Given the description of an element on the screen output the (x, y) to click on. 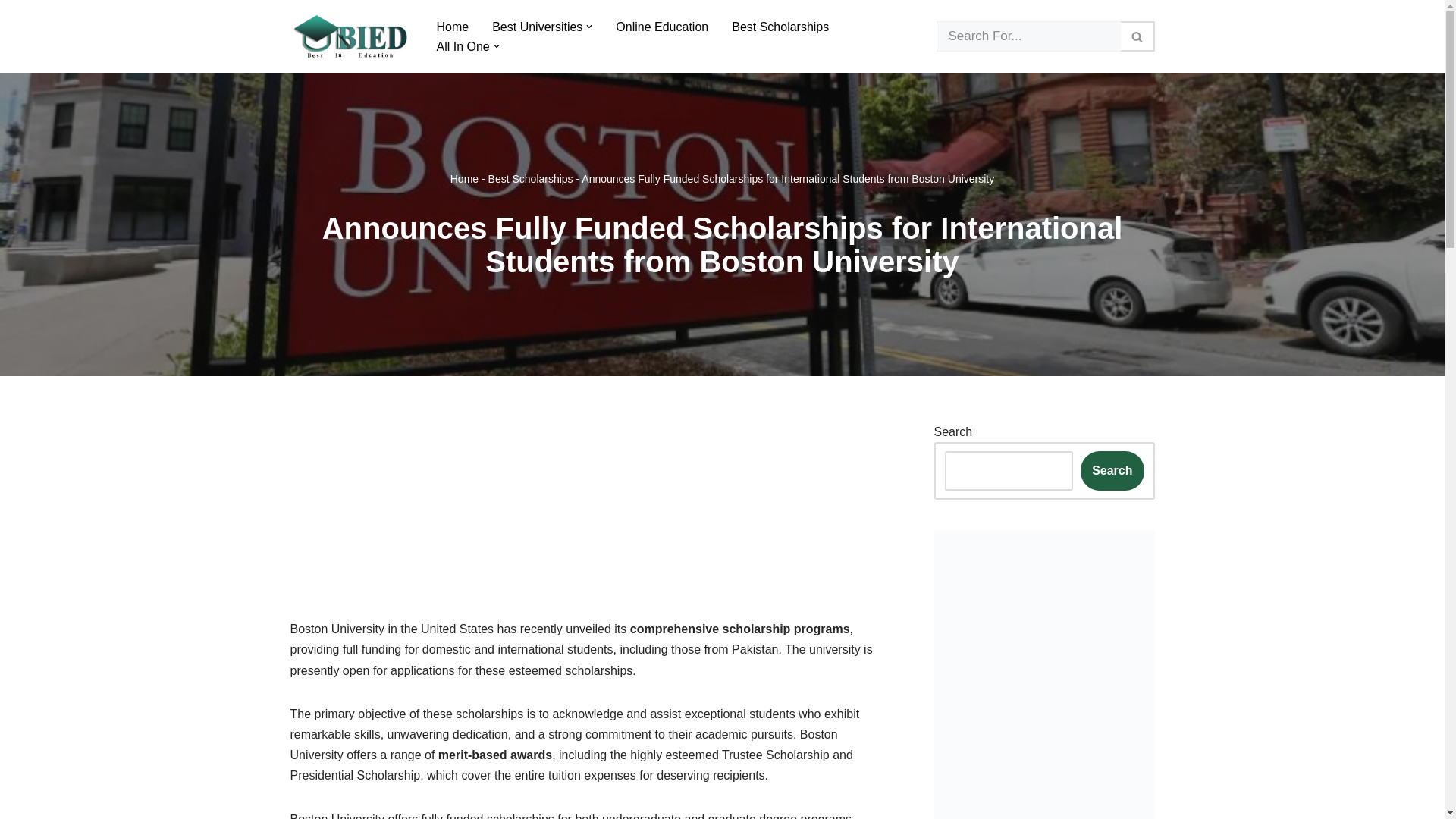
Search (1111, 470)
Best Scholarships (530, 178)
Advertisement (588, 488)
Best Universities (537, 26)
All In One (462, 46)
Online Education (661, 26)
Best Scholarships (780, 26)
Home (452, 26)
Home (464, 178)
Skip to content (11, 31)
